Given the description of an element on the screen output the (x, y) to click on. 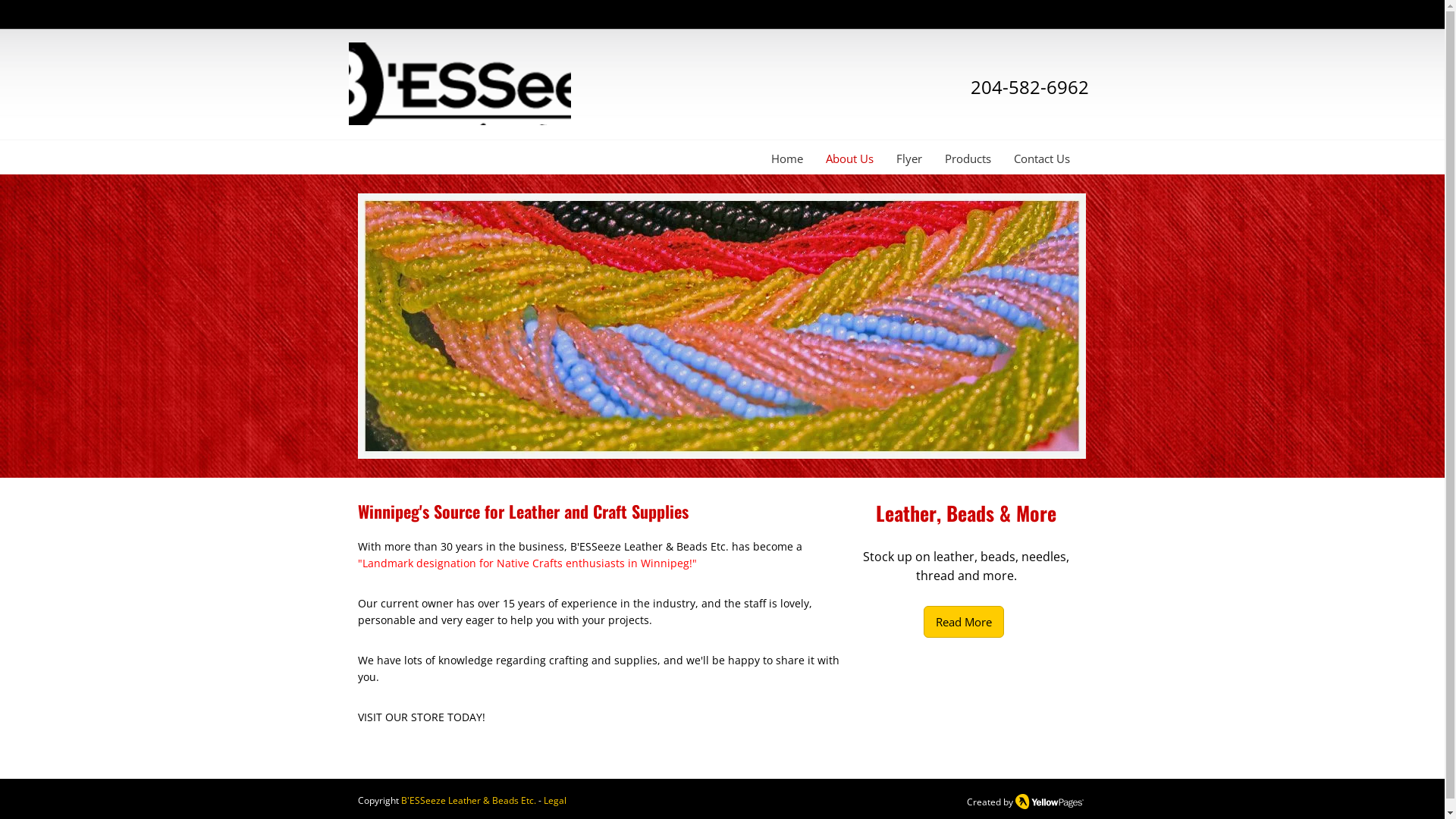
Read More Element type: text (963, 621)
Contact Us Element type: text (1041, 158)
About Us Element type: text (849, 158)
204-582-6962 Element type: text (1029, 86)
Legal Element type: text (553, 799)
Home Element type: text (786, 158)
Embedded Content Element type: hover (946, 22)
Embedded Content Element type: hover (1061, 19)
Flyer Element type: text (908, 158)
